Given the description of an element on the screen output the (x, y) to click on. 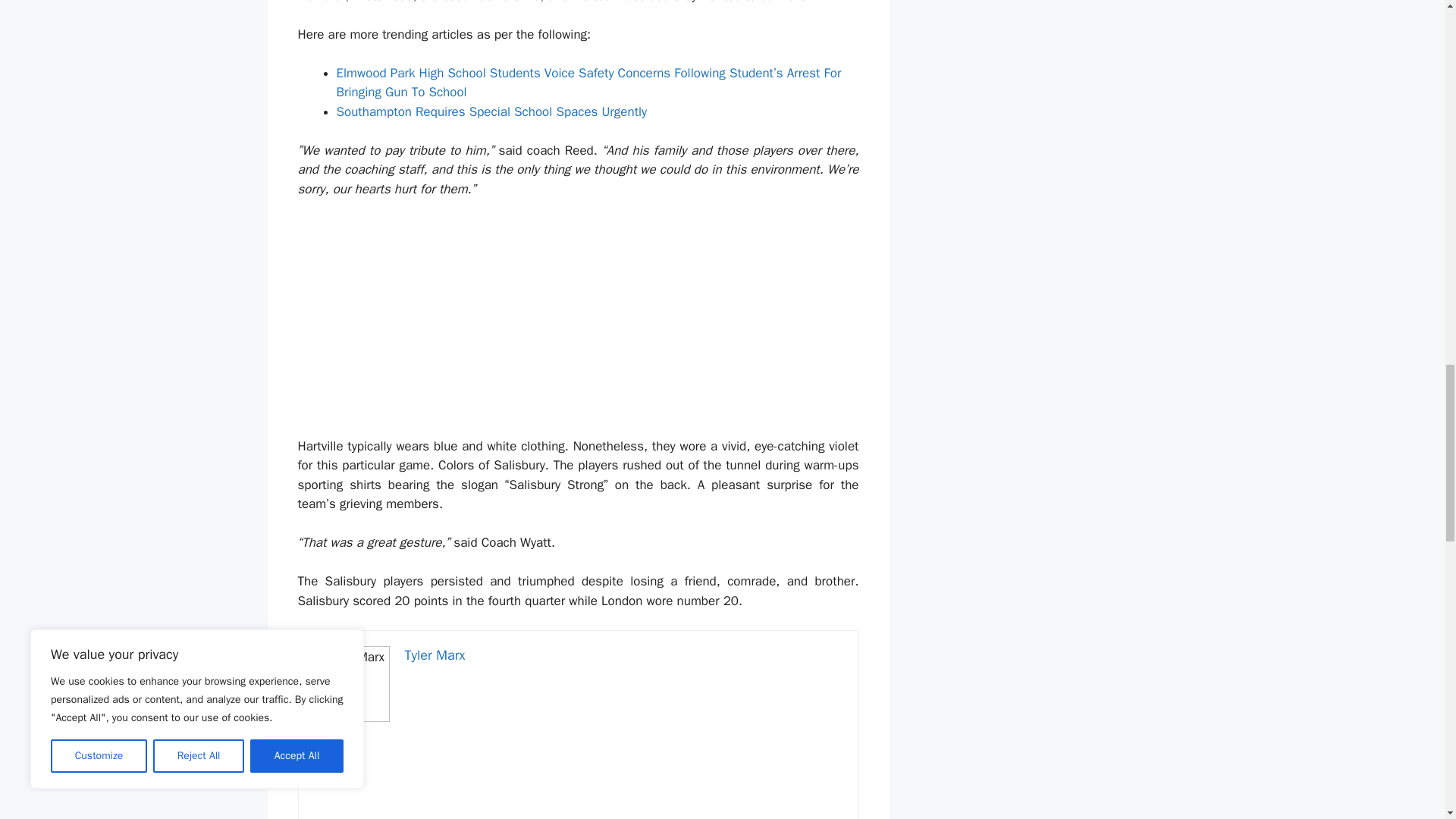
Southampton Requires Special School Spaces Urgently (491, 111)
Tyler Marx (434, 655)
